Given the description of an element on the screen output the (x, y) to click on. 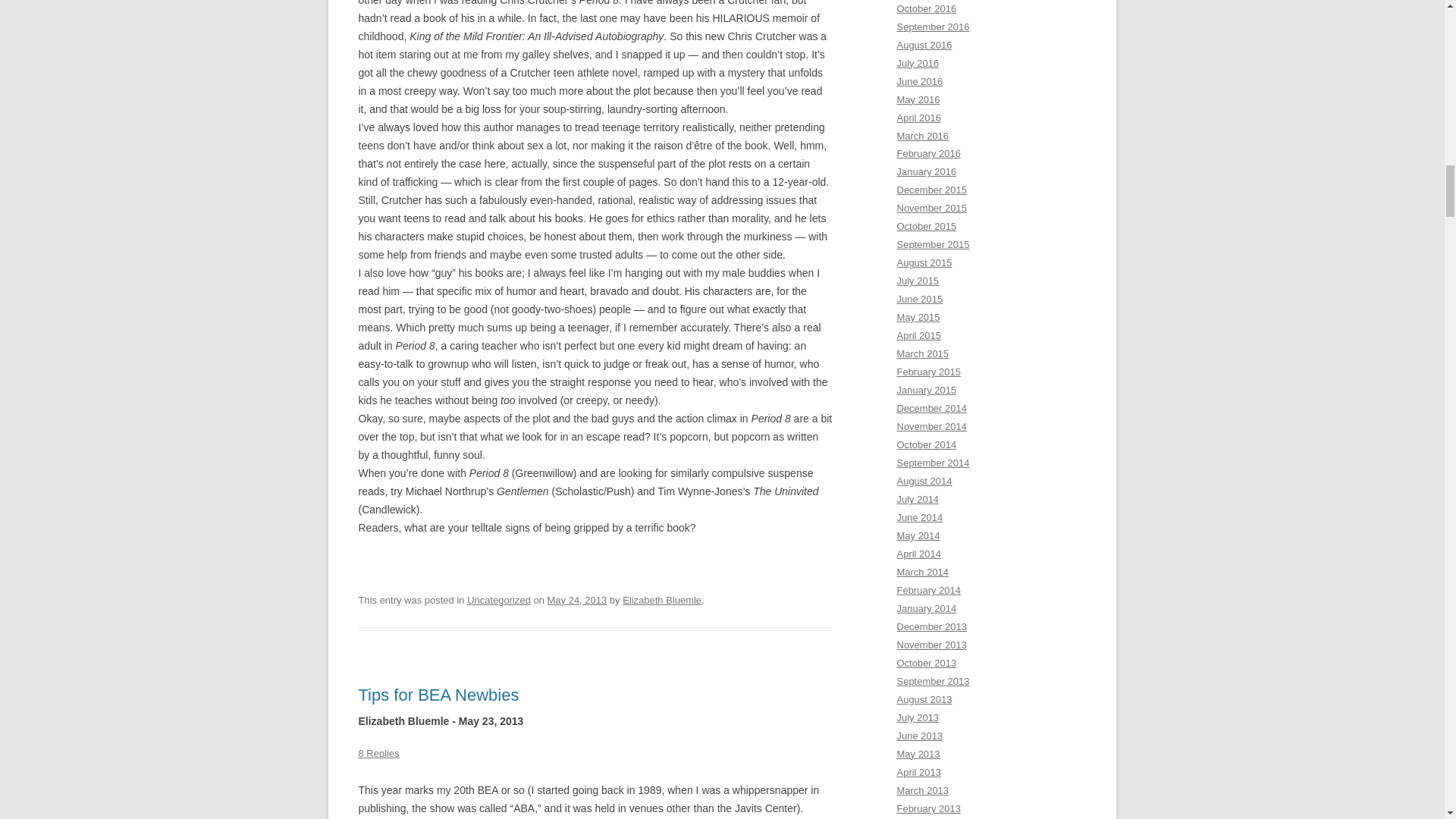
Elizabeth Bluemle (662, 600)
View all posts by Elizabeth Bluemle (662, 600)
8 Replies (378, 753)
May 24, 2013 (577, 600)
6:00 am (577, 600)
Tips for BEA Newbies (438, 694)
Uncategorized (499, 600)
